Given the description of an element on the screen output the (x, y) to click on. 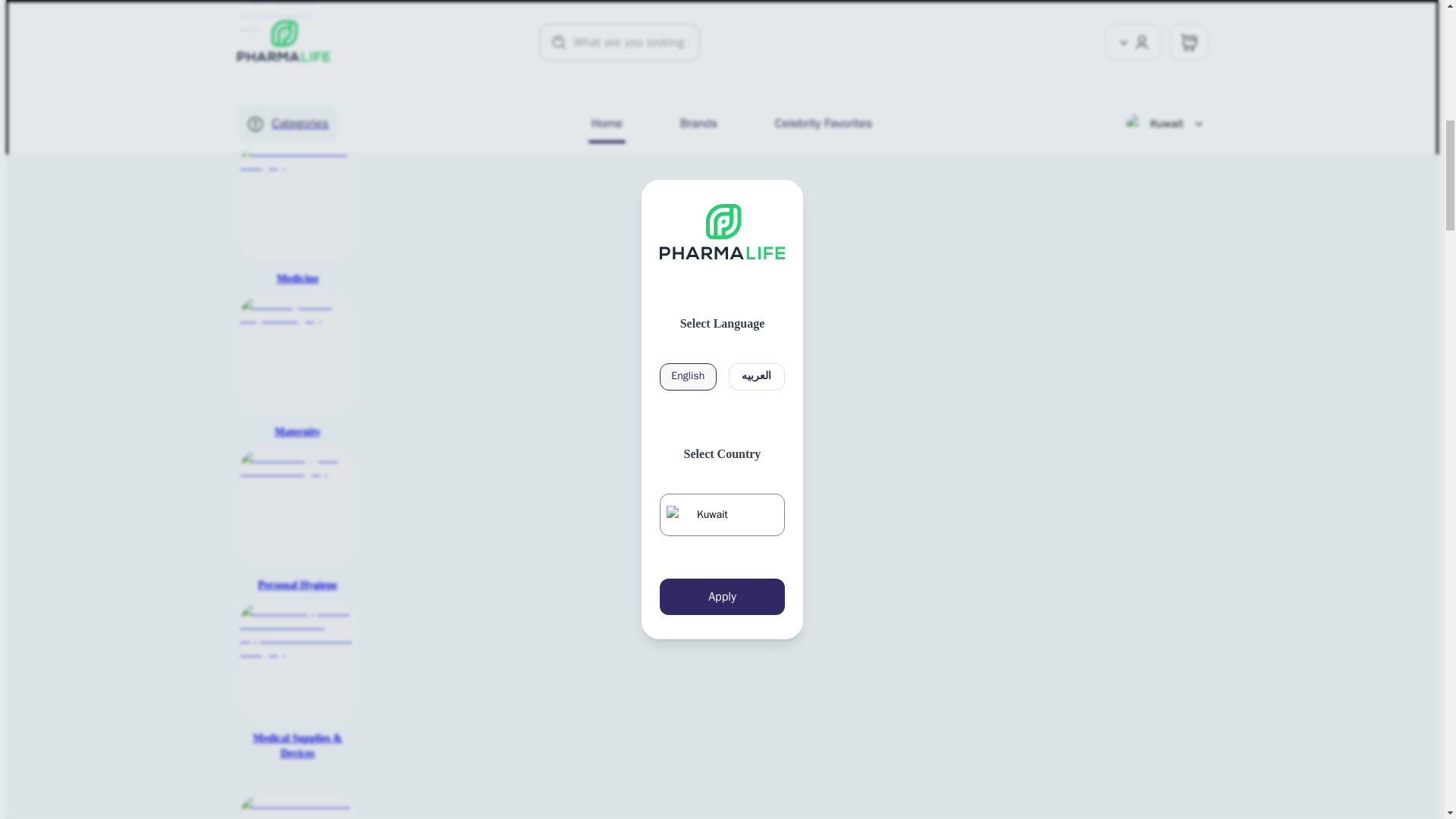
Hair Care (296, 807)
Supplements (296, 66)
